Given the description of an element on the screen output the (x, y) to click on. 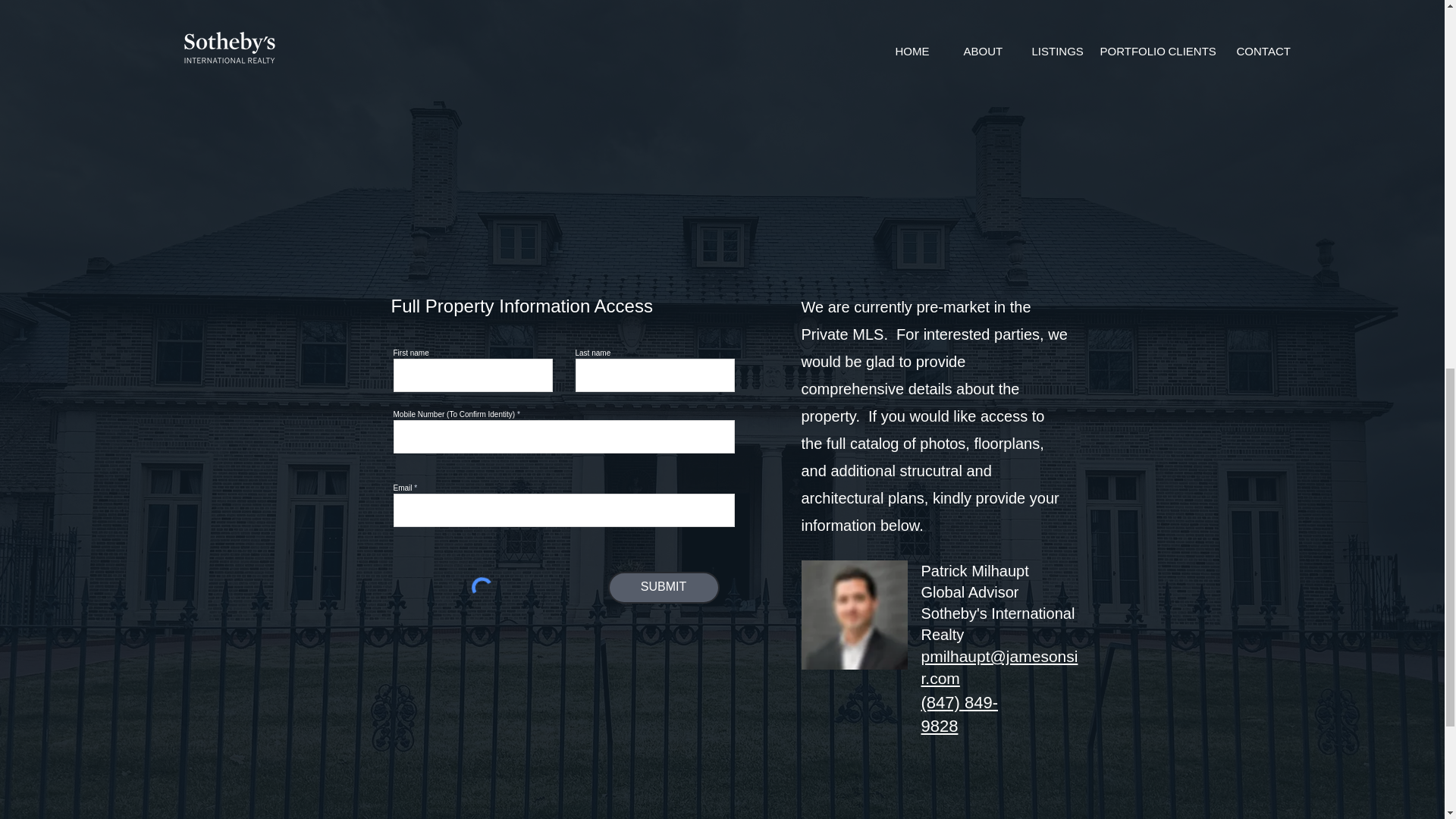
SUBMIT (663, 587)
